Given the description of an element on the screen output the (x, y) to click on. 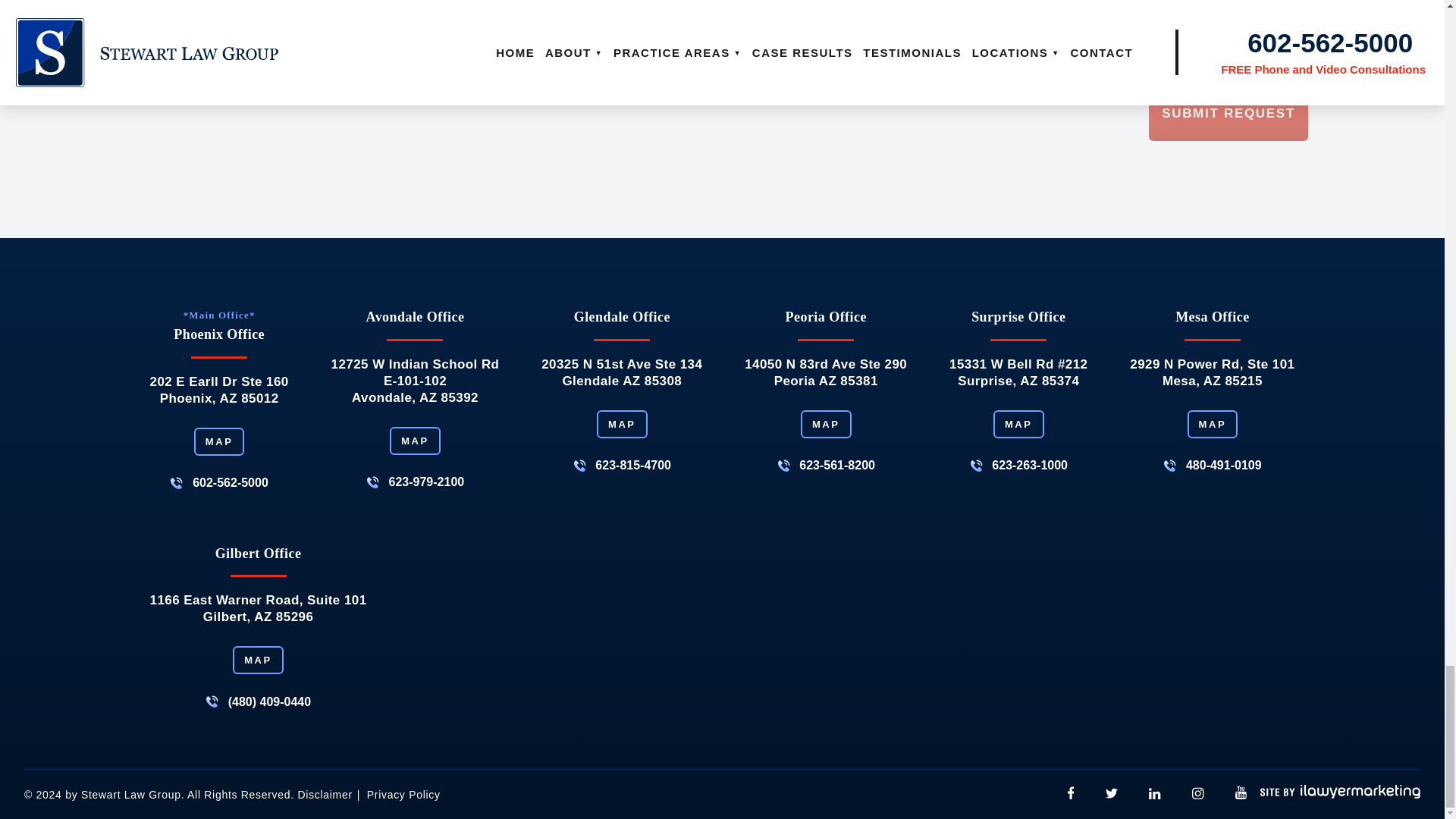
Submit Request (1227, 113)
Agree (759, 64)
